Given the description of an element on the screen output the (x, y) to click on. 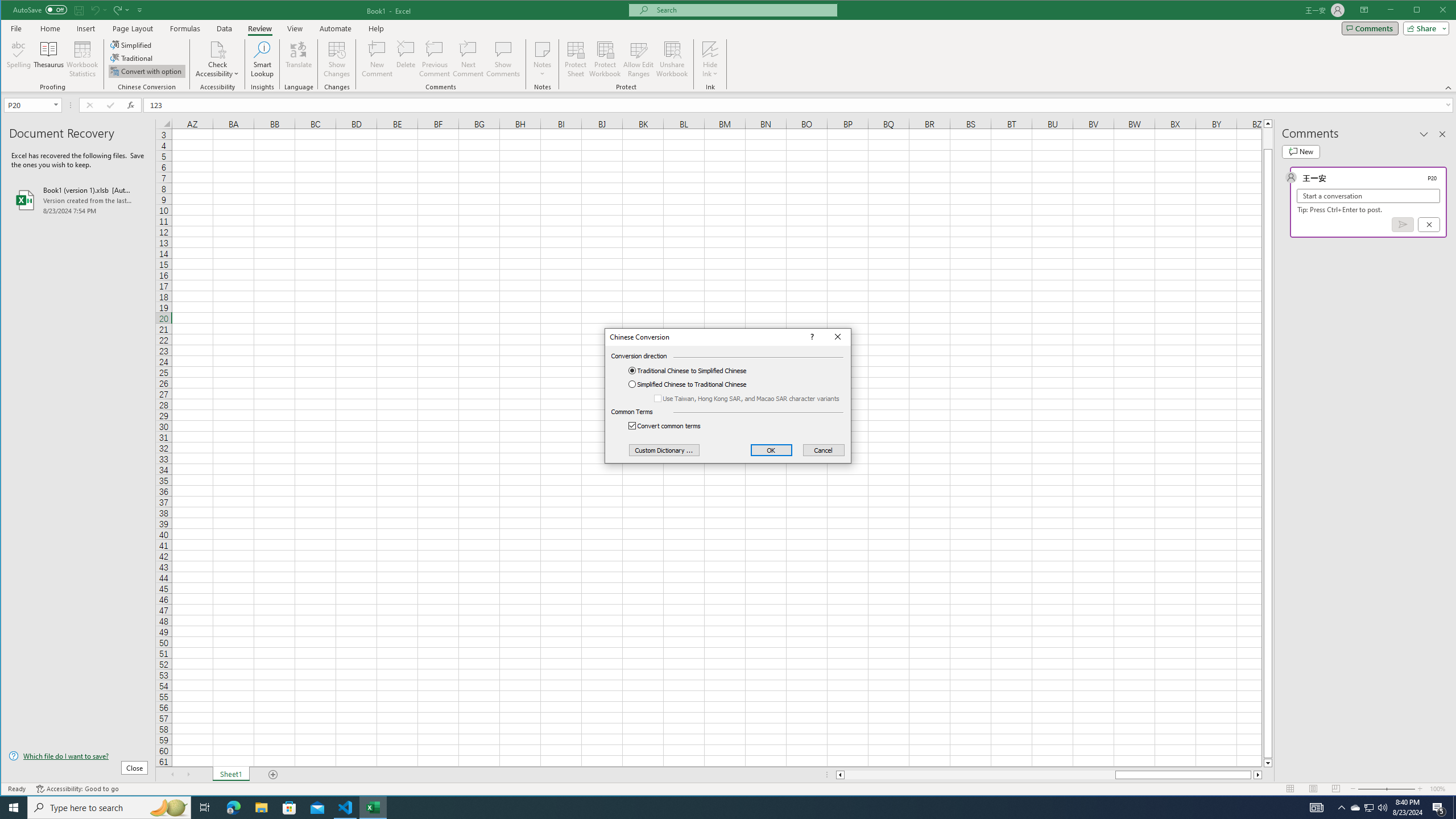
Task View (204, 807)
Hide Ink (710, 48)
OK (771, 450)
Notification Chevron (1341, 807)
Previous Comment (434, 59)
Context help (810, 336)
Page up (1267, 138)
Convert with option (146, 70)
Show Comments (502, 59)
Cancel (823, 450)
